Given the description of an element on the screen output the (x, y) to click on. 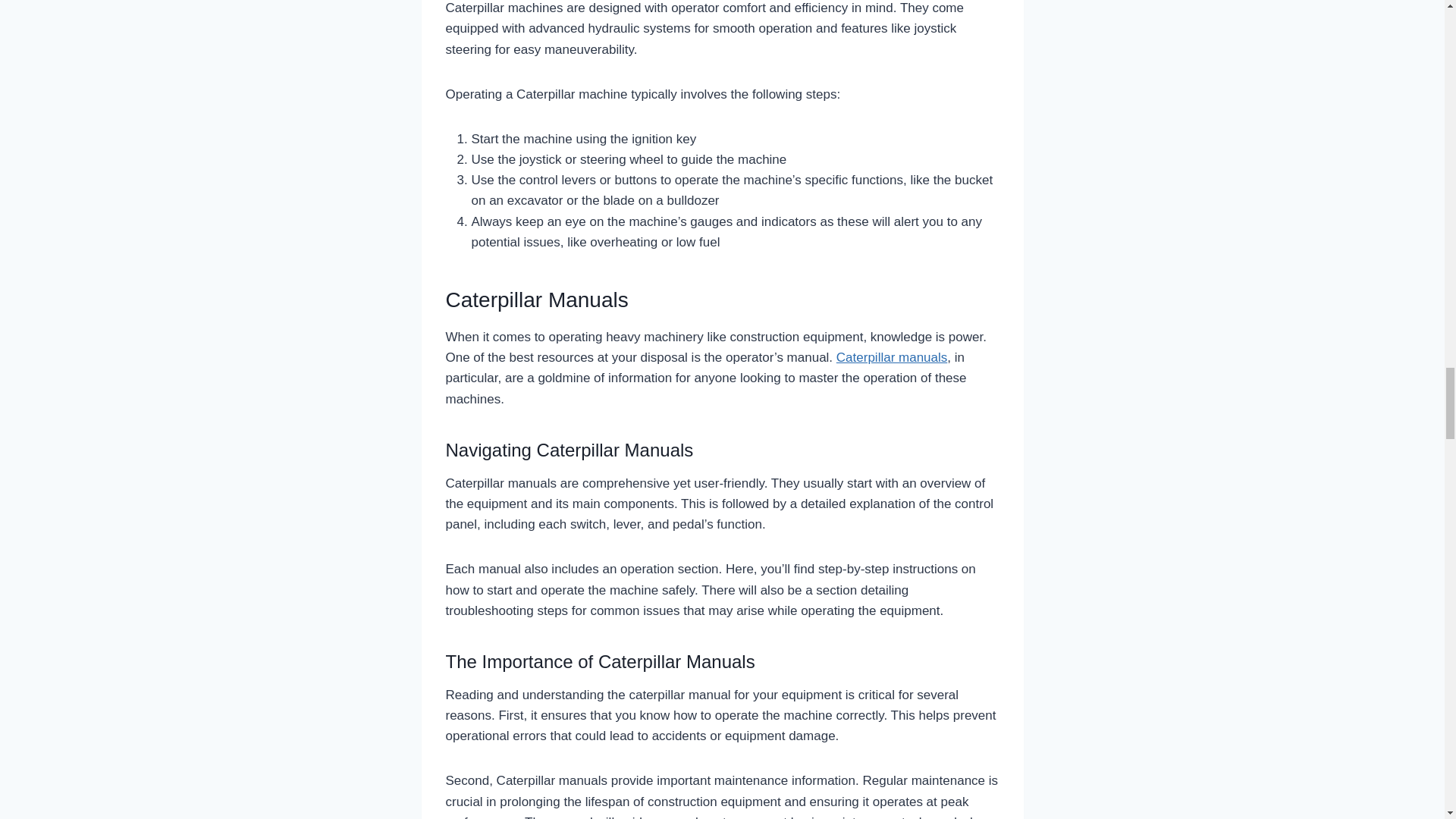
Caterpillar manuals (891, 357)
Caterpillar manuals (891, 357)
